Given the description of an element on the screen output the (x, y) to click on. 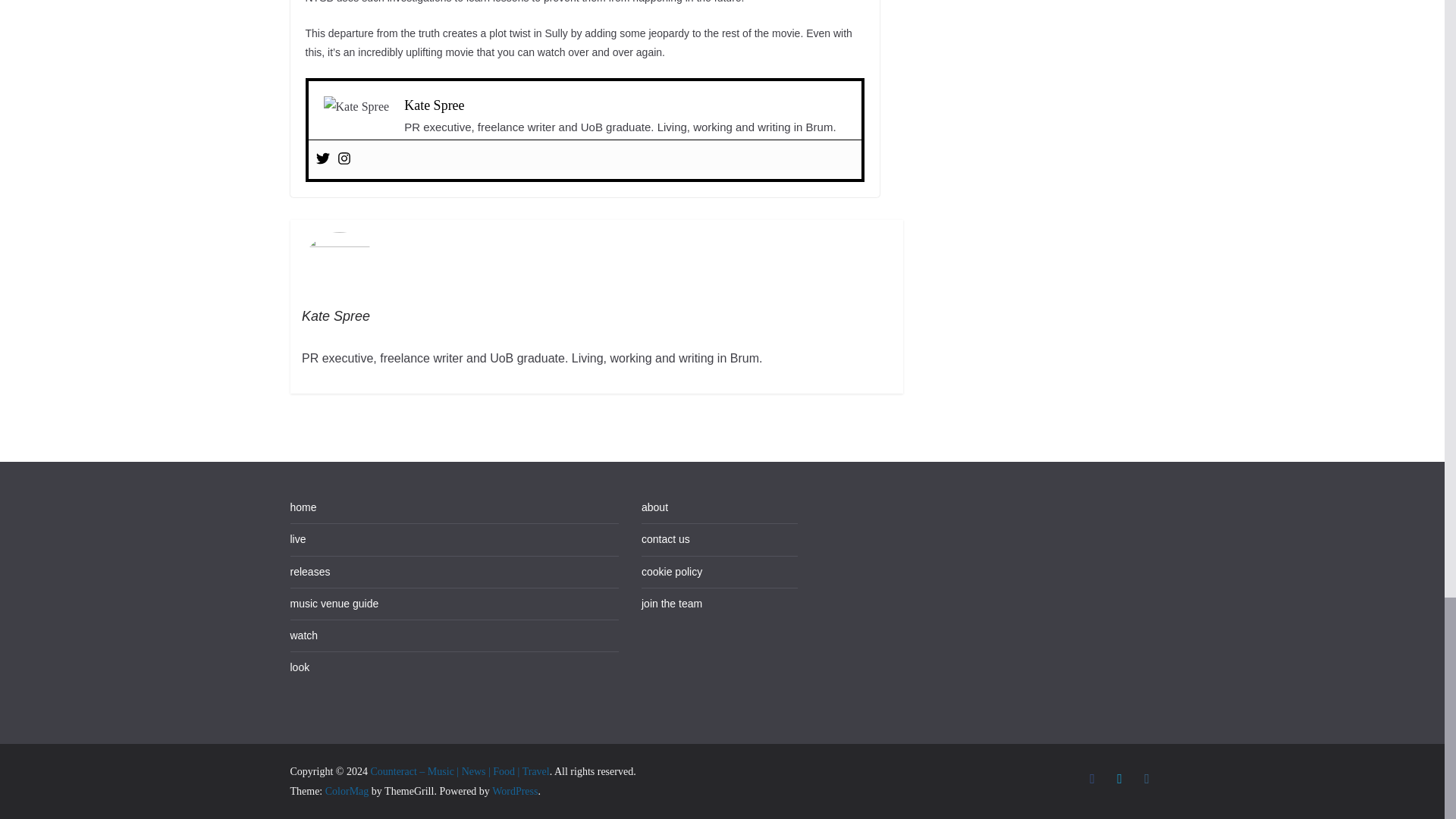
home (302, 507)
ColorMag (346, 790)
releases (309, 571)
look (298, 666)
music venue guide (333, 603)
WordPress (514, 790)
Kate Spree (434, 105)
watch (303, 635)
about (655, 507)
live (297, 539)
